Given the description of an element on the screen output the (x, y) to click on. 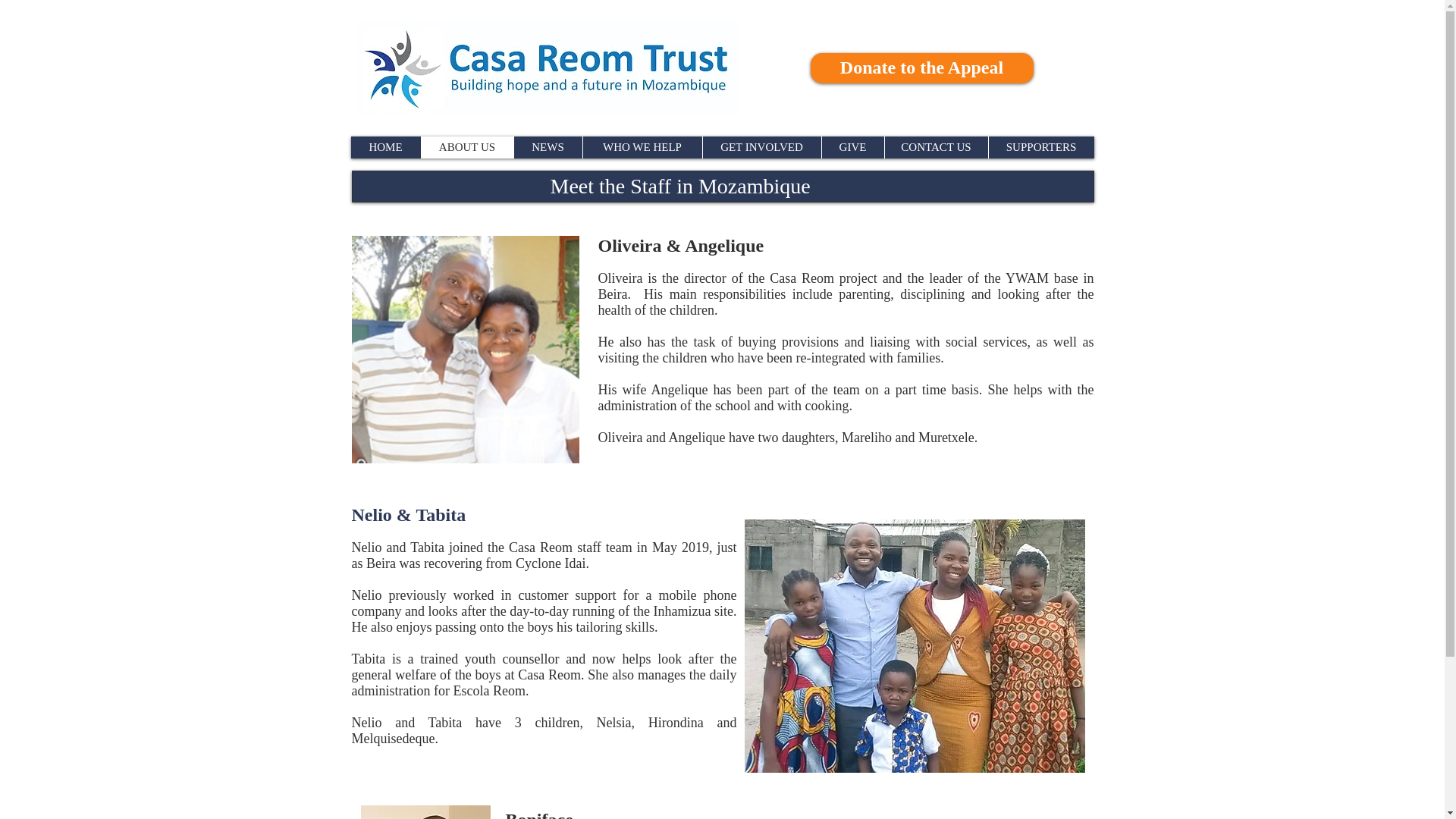
Donate to the Appeal (920, 68)
GIVE (852, 147)
NEWS (546, 147)
GET INVOLVED (761, 147)
ABOUT US (466, 147)
WHO WE HELP (641, 147)
Oliveira.JPG (465, 349)
CONTACT US (935, 147)
HOME (385, 147)
SUPPORTERS (1040, 147)
